Given the description of an element on the screen output the (x, y) to click on. 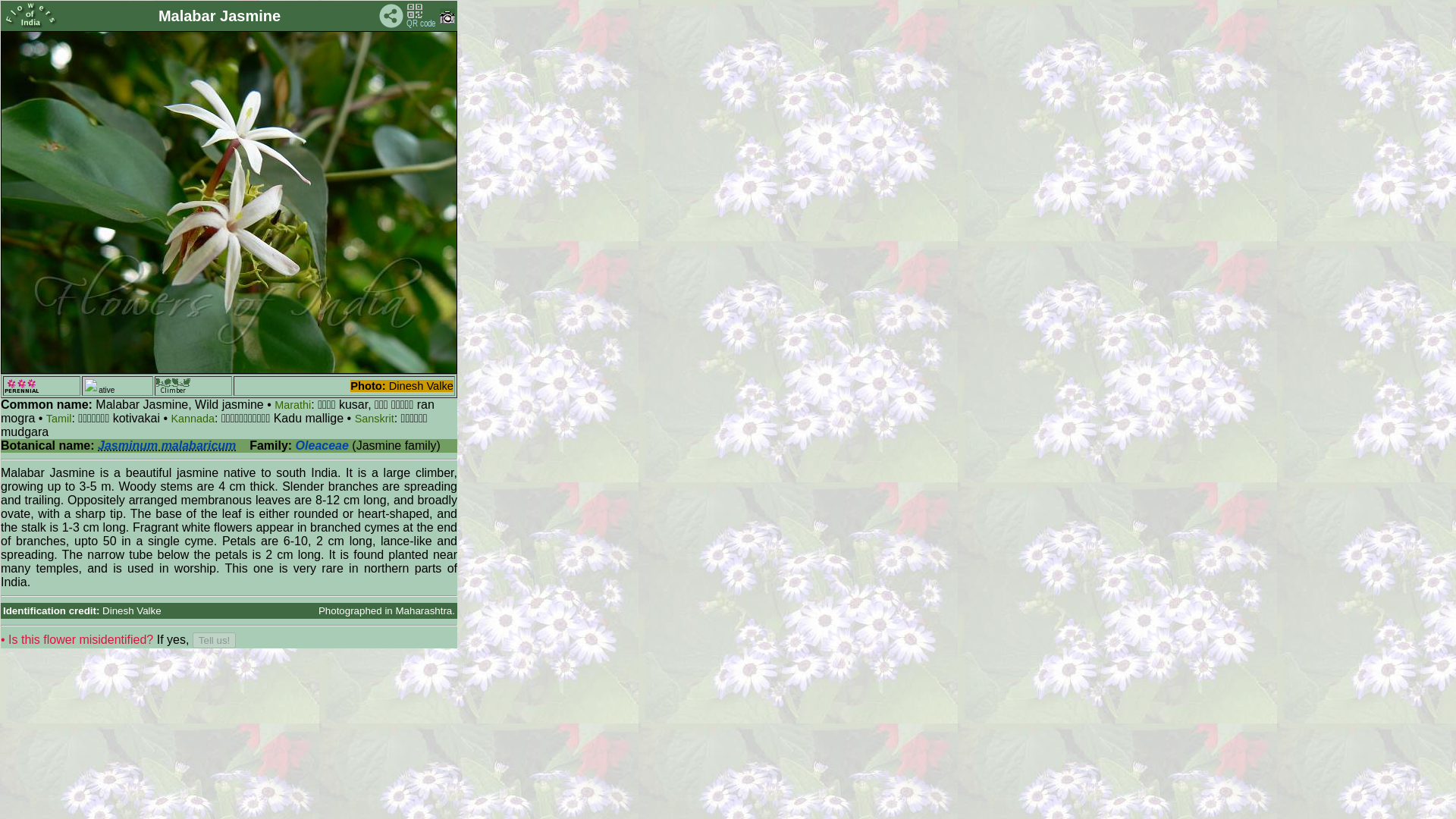
N (90, 385)
Jasminum malabaricum Wight (166, 445)
Get QR code (421, 15)
N (21, 385)
Tell us! (213, 640)
Photo info (446, 19)
Vine (172, 385)
